Given the description of an element on the screen output the (x, y) to click on. 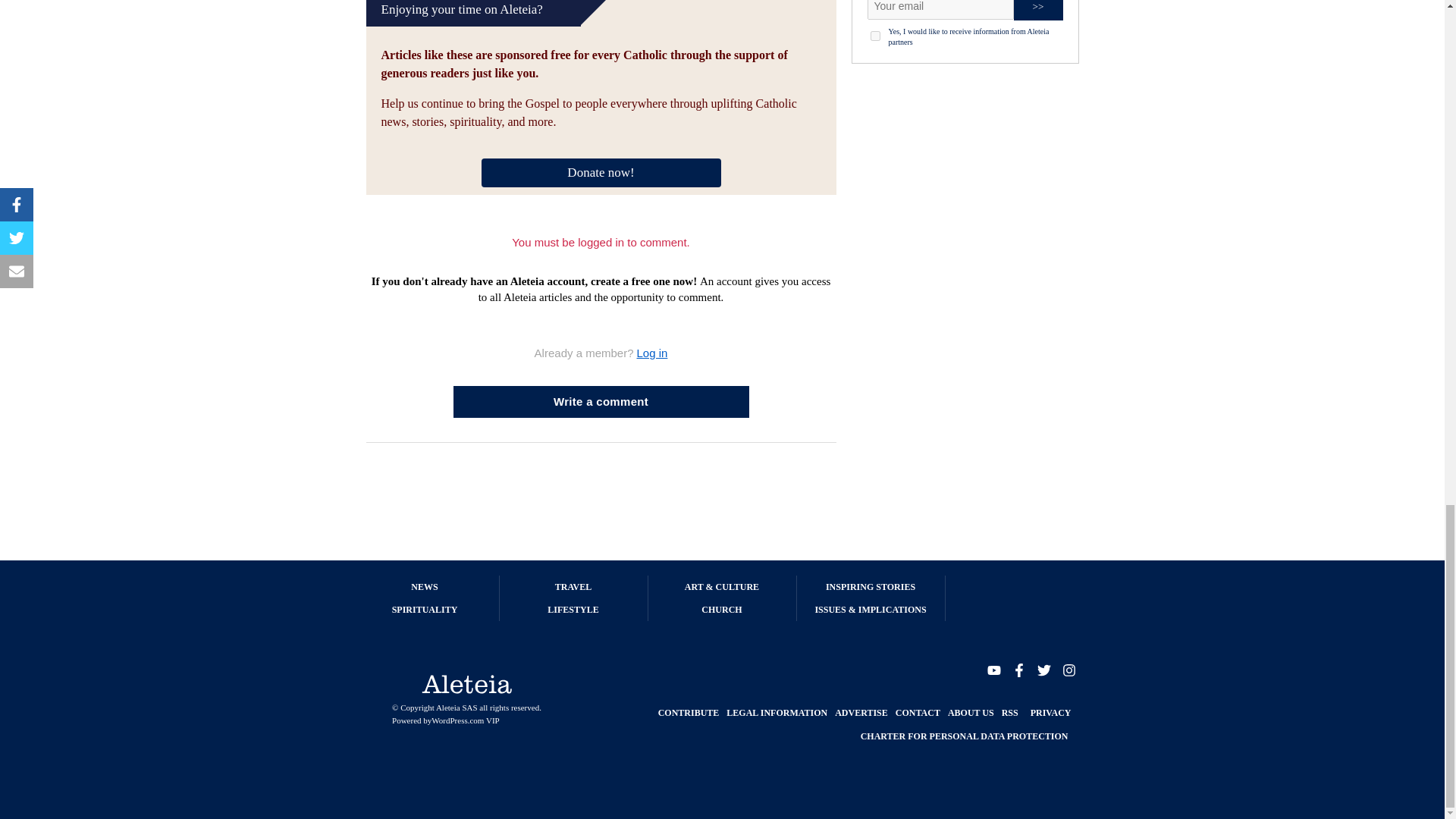
social-fb-footer (1018, 669)
social-yt-footer (994, 669)
social-ig-footer (1068, 669)
1 (875, 35)
